Given the description of an element on the screen output the (x, y) to click on. 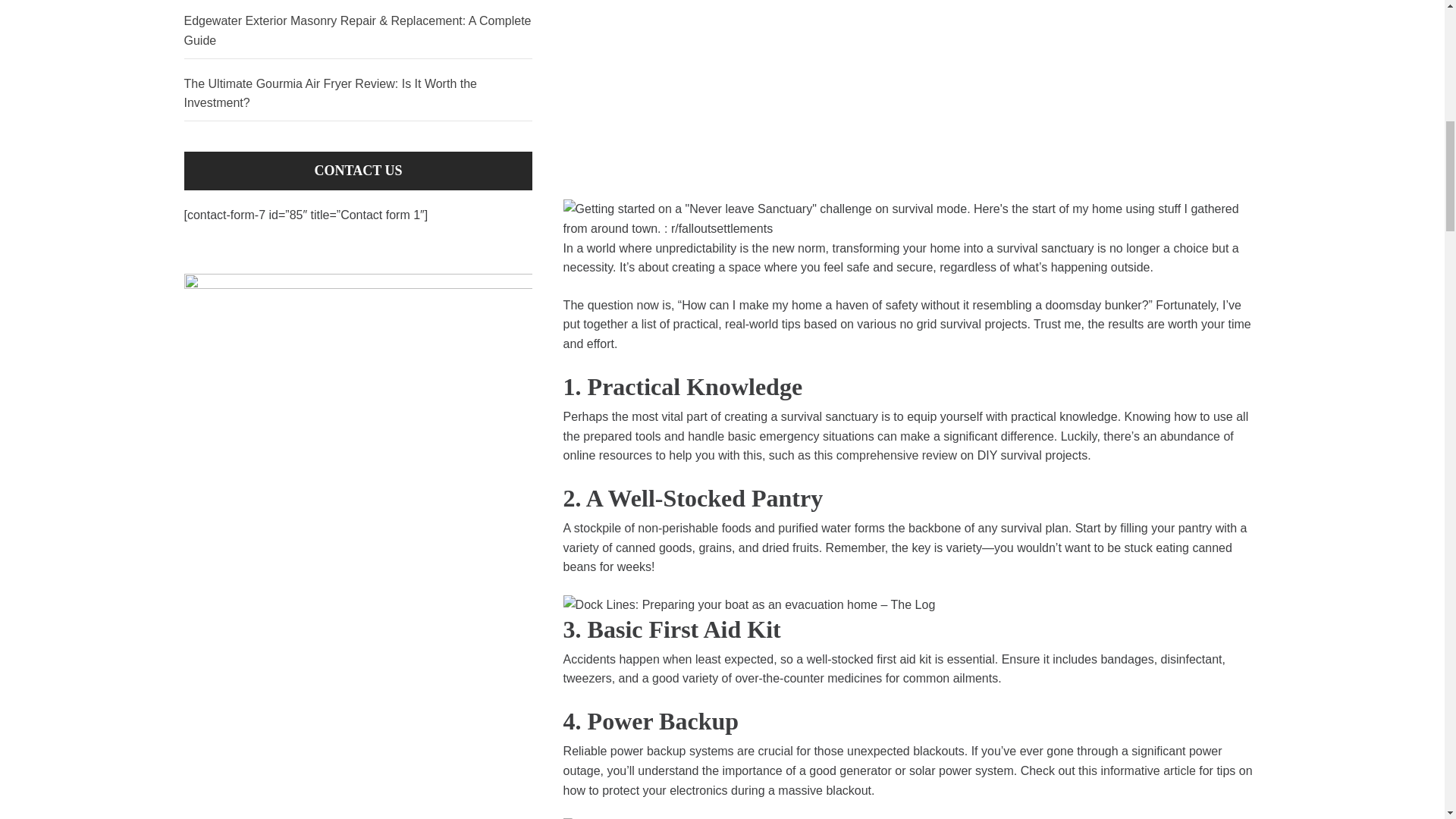
this comprehensive review (884, 454)
this informative article (1136, 770)
